Given the description of an element on the screen output the (x, y) to click on. 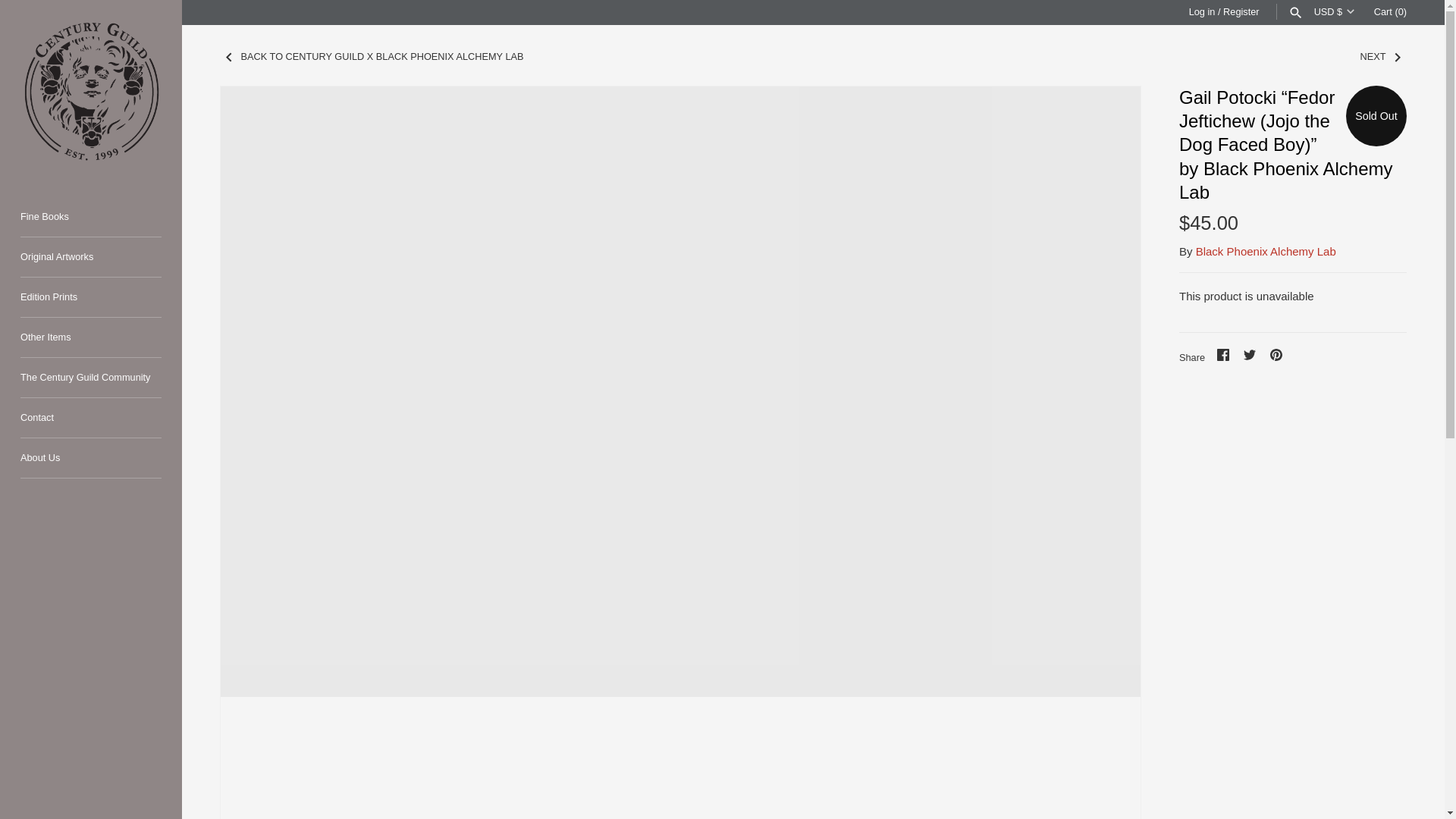
Facebook (1222, 354)
Century Guild (91, 90)
LEFT (228, 57)
Register (1241, 11)
Log in (1202, 11)
Twitter (1249, 354)
Pinterest (1275, 354)
RIGHT (1397, 57)
